Given the description of an element on the screen output the (x, y) to click on. 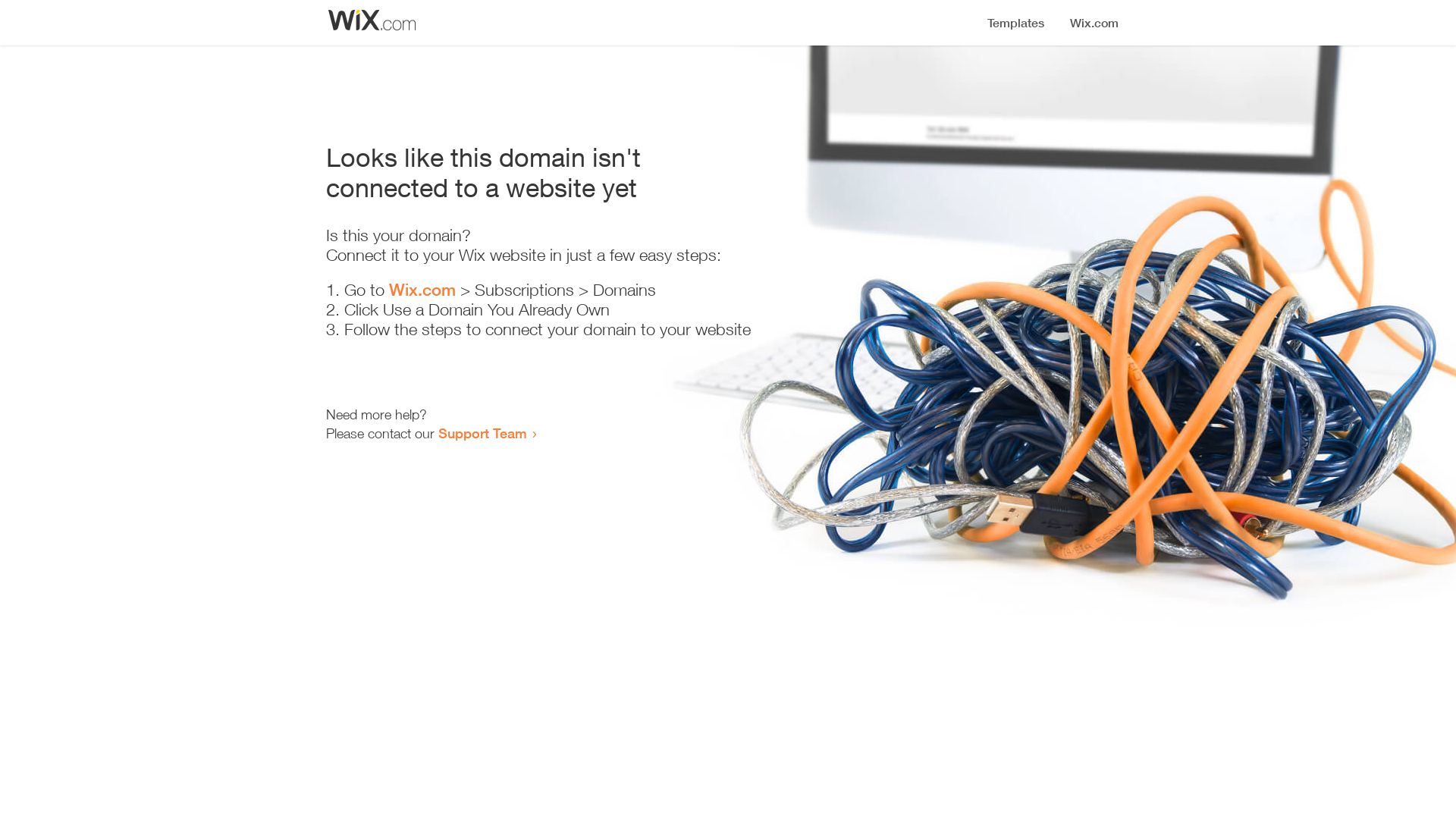
Wix.com Element type: text (422, 289)
Support Team Element type: text (482, 432)
